Given the description of an element on the screen output the (x, y) to click on. 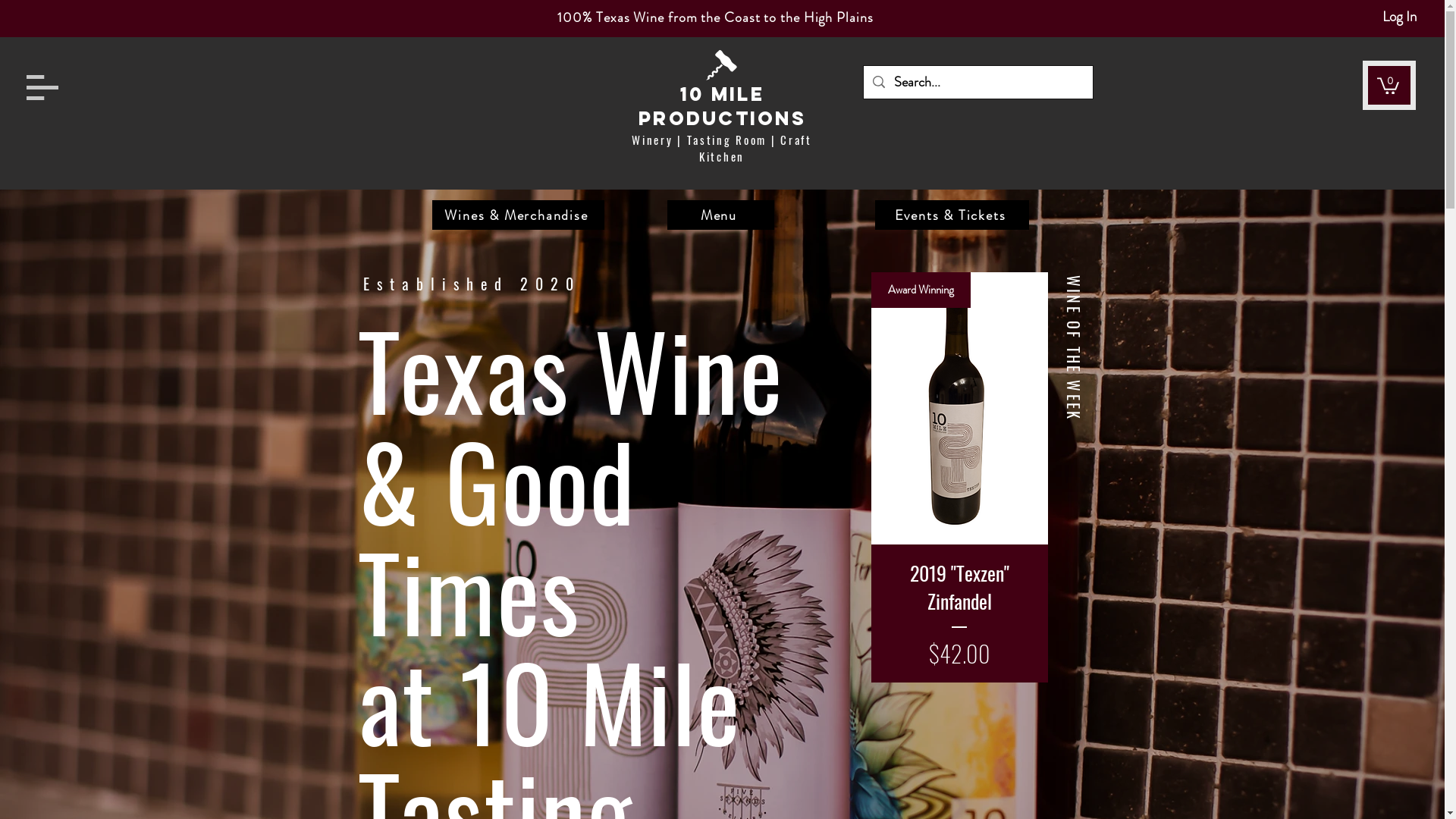
Menu Element type: text (720, 214)
Log In Element type: text (1399, 16)
Wines & Merchandise Element type: text (518, 214)
0 Element type: text (1388, 84)
Events & Tickets Element type: text (952, 214)
Award Winning
2019 "Texzen" Zinfandel
$42.00
Price Element type: text (958, 477)
Winery | Tasting Room | Craft Kitchen Element type: text (721, 147)
10 Mile Productions Element type: text (722, 105)
